Given the description of an element on the screen output the (x, y) to click on. 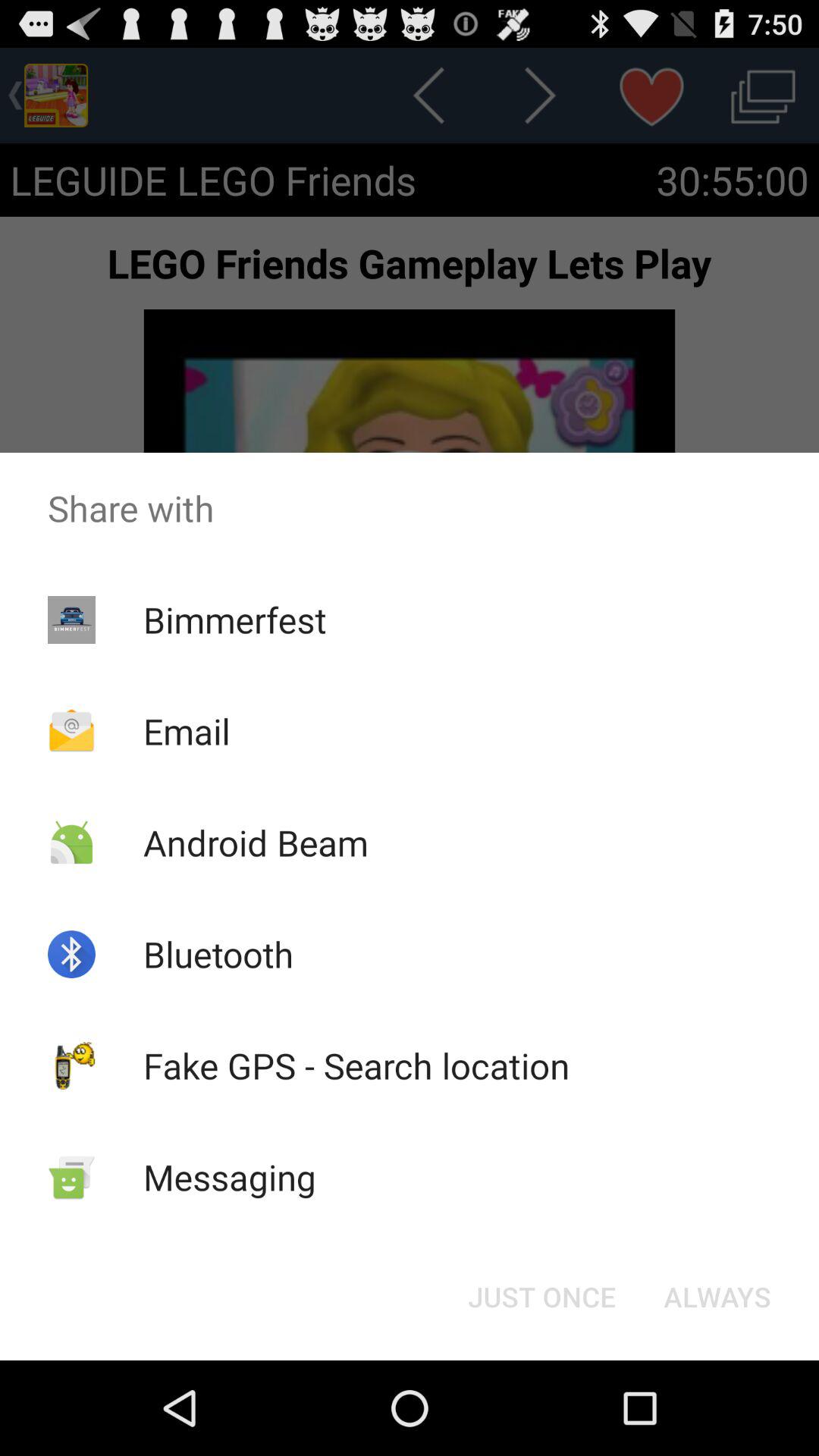
tap bimmerfest item (234, 619)
